Given the description of an element on the screen output the (x, y) to click on. 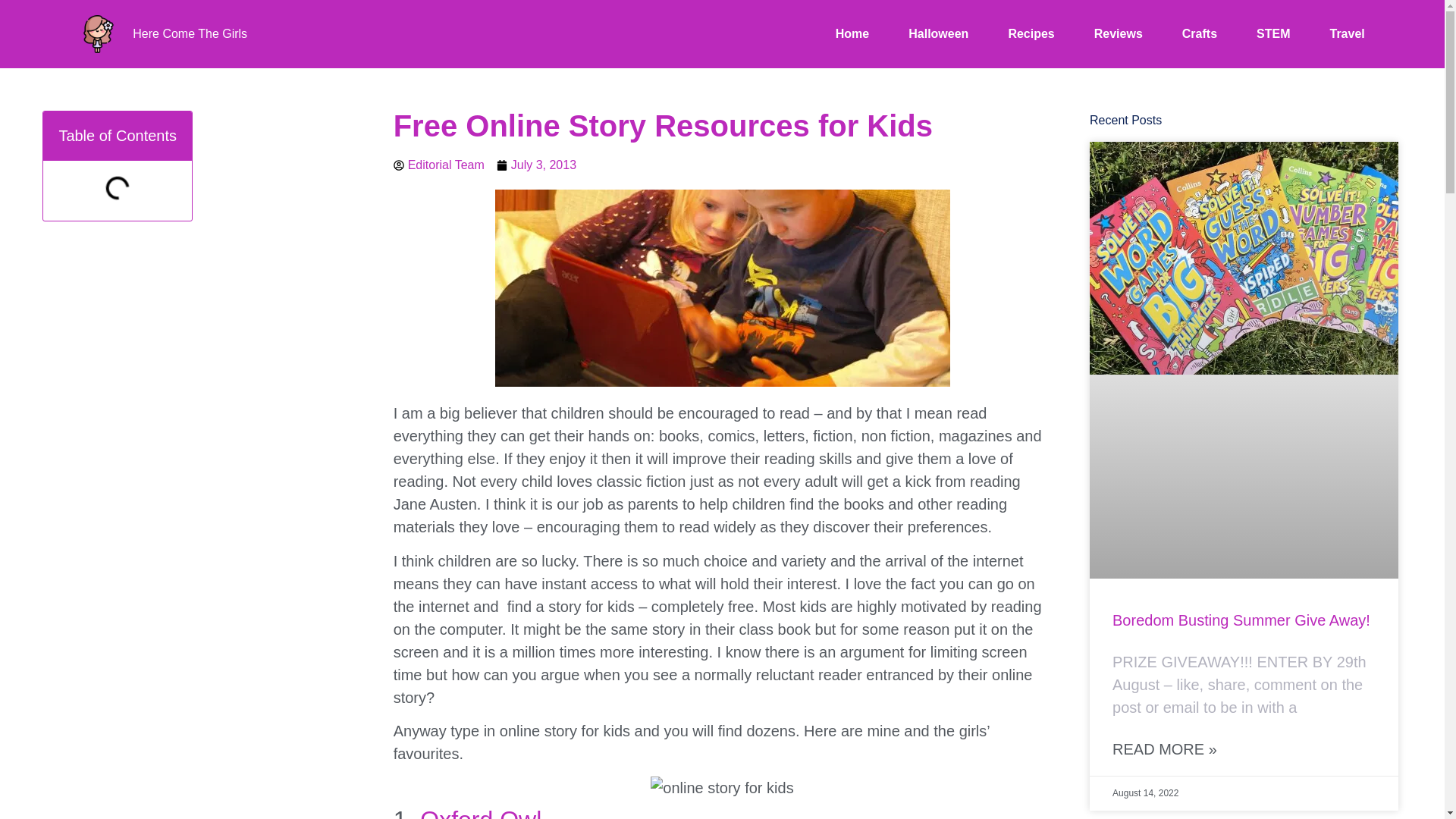
Crafts (1199, 34)
Editorial Team (438, 165)
Oxford Owl (480, 812)
Travel (1346, 34)
Here Come The Girls (189, 33)
Halloween (938, 34)
Recipes (1030, 34)
July 3, 2013 (536, 165)
STEM (1273, 34)
Reviews (1118, 34)
Home (852, 34)
